Given the description of an element on the screen output the (x, y) to click on. 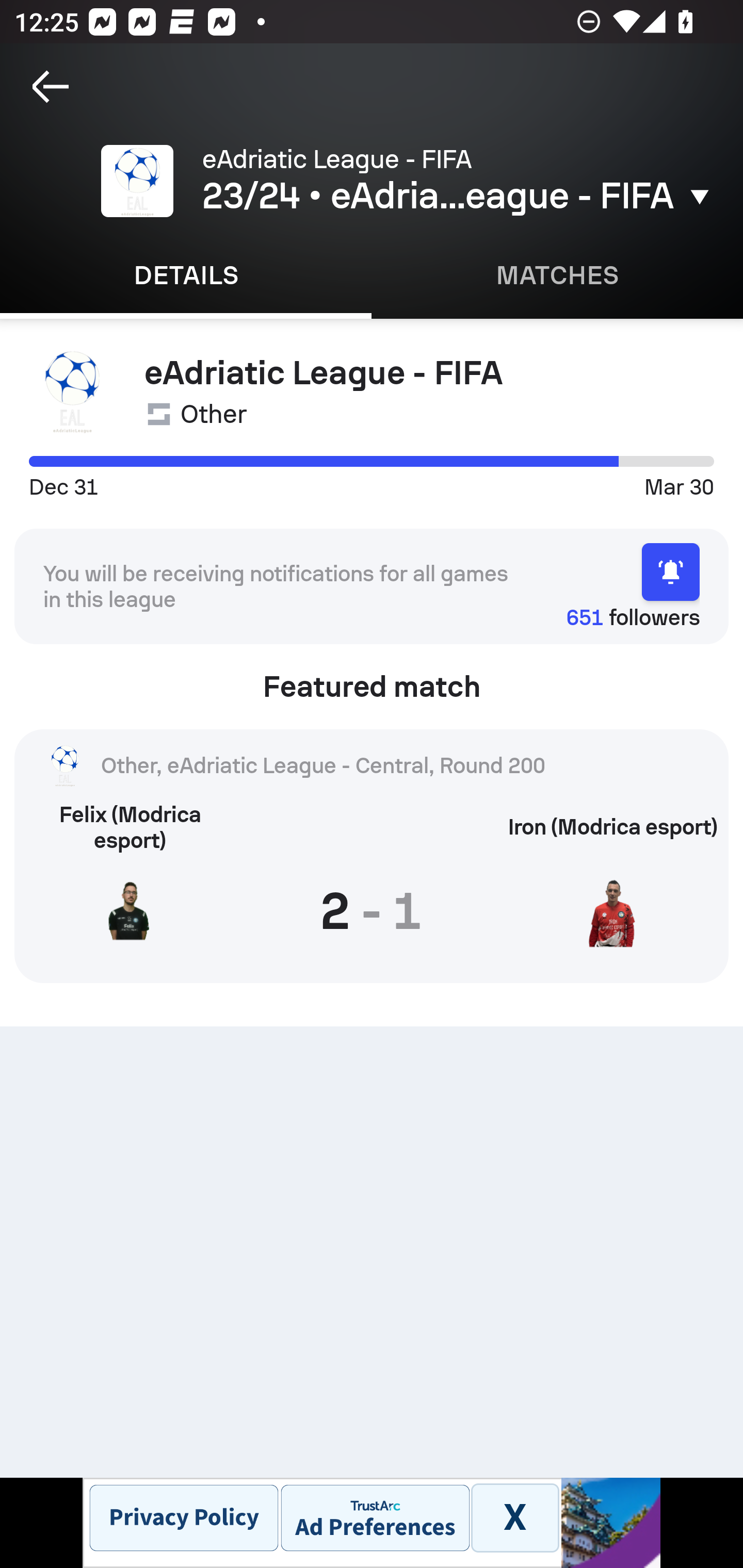
Navigate up (50, 86)
23/24 • eAdriatic League - FIFA (458, 195)
Matches MATCHES (557, 275)
get?name=ta-btn-privacy (183, 1517)
get?name=btn-ad-preferences-2 (374, 1517)
X (513, 1517)
